Given the description of an element on the screen output the (x, y) to click on. 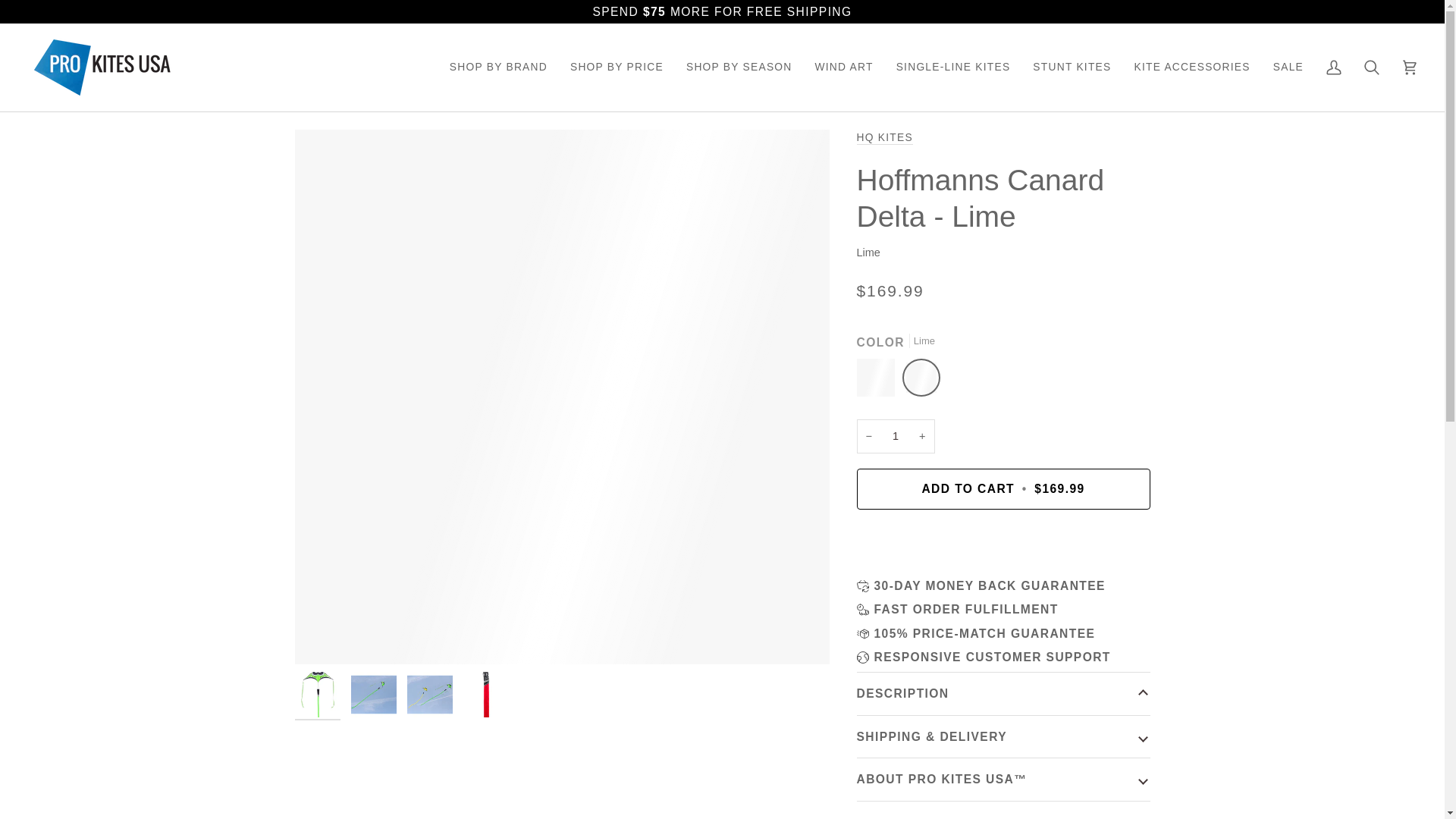
SHOP BY BRAND (498, 67)
SHOP BY PRICE (617, 67)
1 (895, 436)
SHOP BY SEASON (739, 67)
Lime (921, 381)
WIND ART (844, 67)
